Given the description of an element on the screen output the (x, y) to click on. 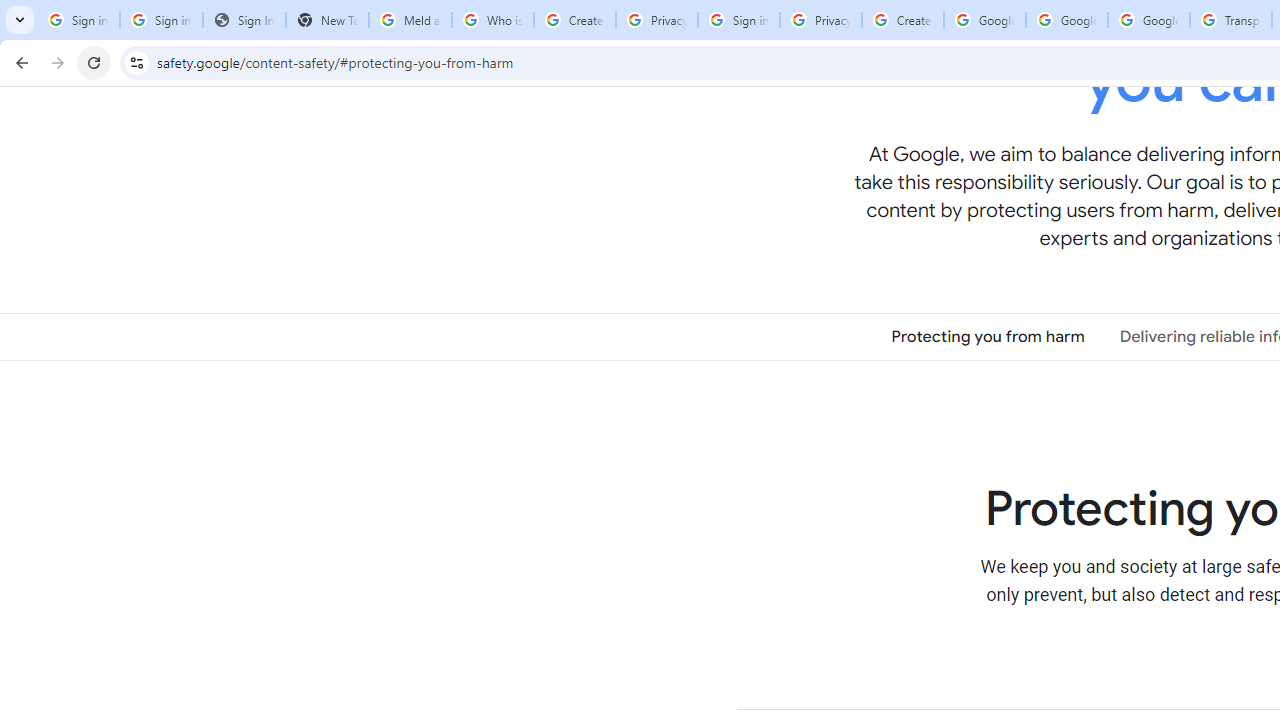
Sign In - USA TODAY (244, 20)
Sign in - Google Accounts (738, 20)
Create your Google Account (574, 20)
Sign in - Google Accounts (78, 20)
Create your Google Account (902, 20)
Protecting you from harm (987, 336)
Who is my administrator? - Google Account Help (492, 20)
